Given the description of an element on the screen output the (x, y) to click on. 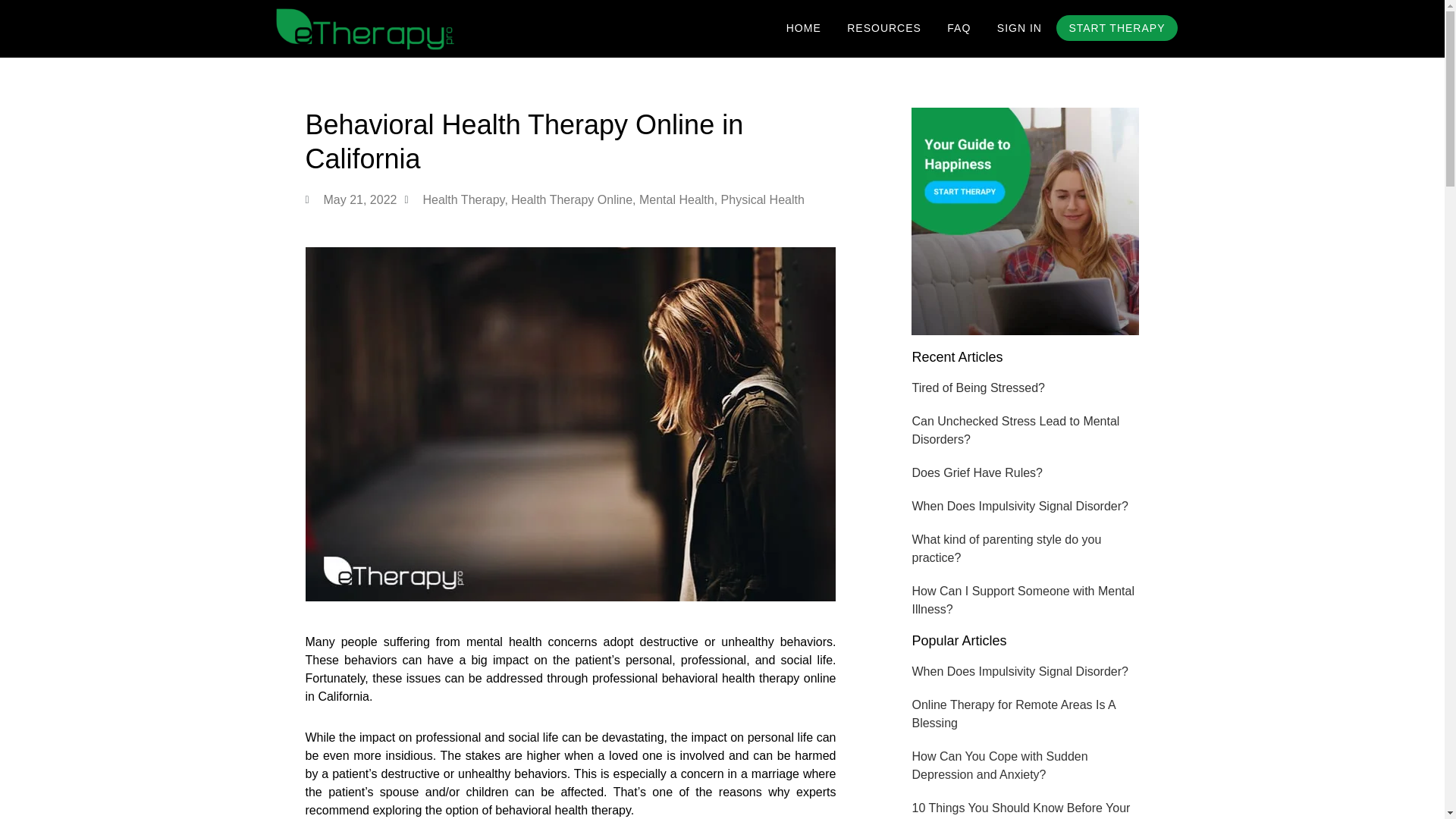
Physical Health (762, 199)
SIGN IN (1018, 28)
START THERAPY (1116, 27)
Mental Health (676, 199)
May 21, 2022 (350, 199)
HOME (803, 28)
RESOURCES (884, 28)
Health Therapy (462, 199)
Health Therapy Online (571, 199)
